Given the description of an element on the screen output the (x, y) to click on. 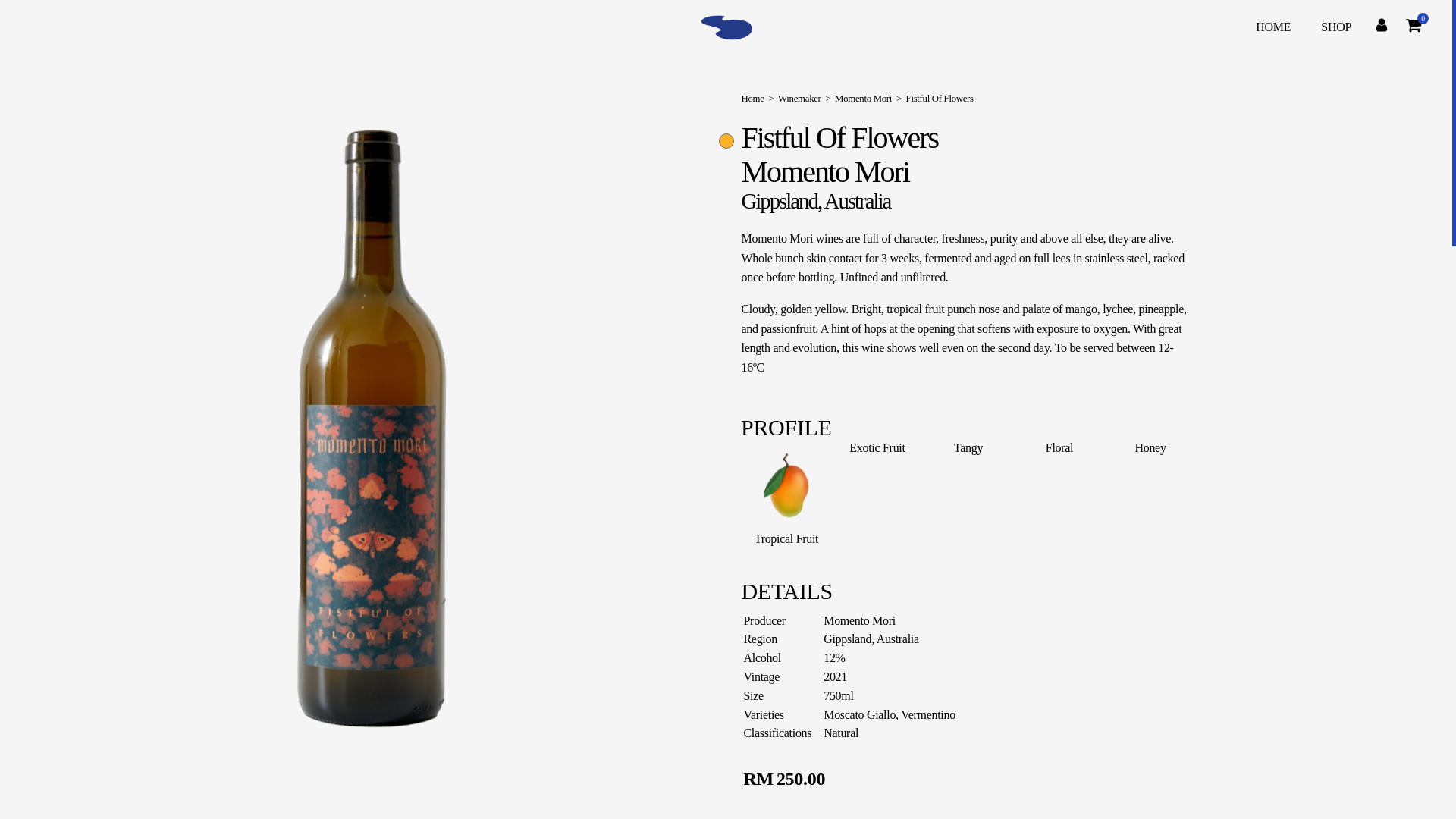
Home (752, 98)
Momento Mori (862, 98)
Winemaker (799, 98)
SHOP (1336, 27)
HOME (1273, 27)
